Given the description of an element on the screen output the (x, y) to click on. 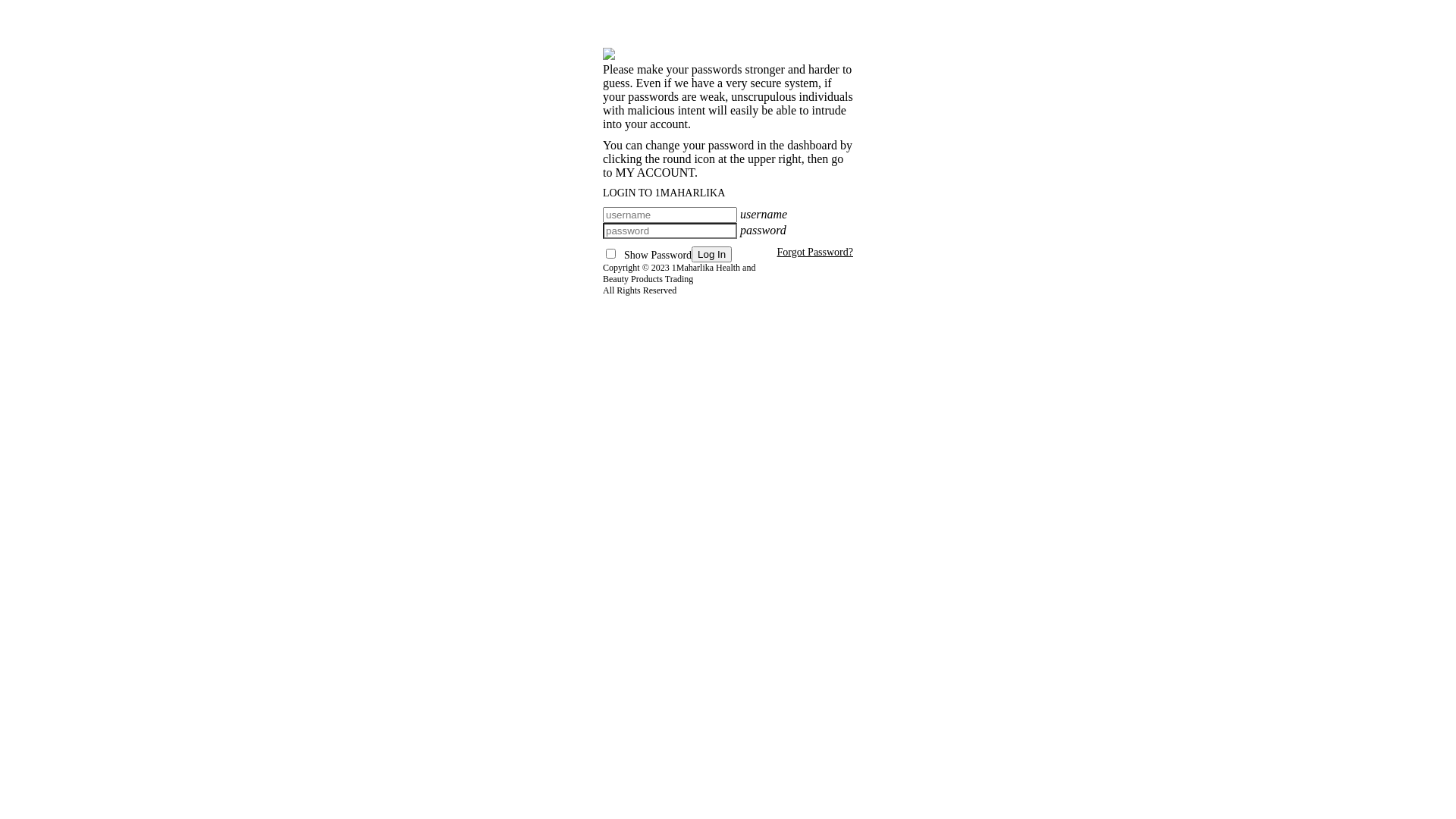
Log In Element type: text (711, 254)
on Element type: text (610, 253)
Forgot Password? Element type: text (815, 251)
